Given the description of an element on the screen output the (x, y) to click on. 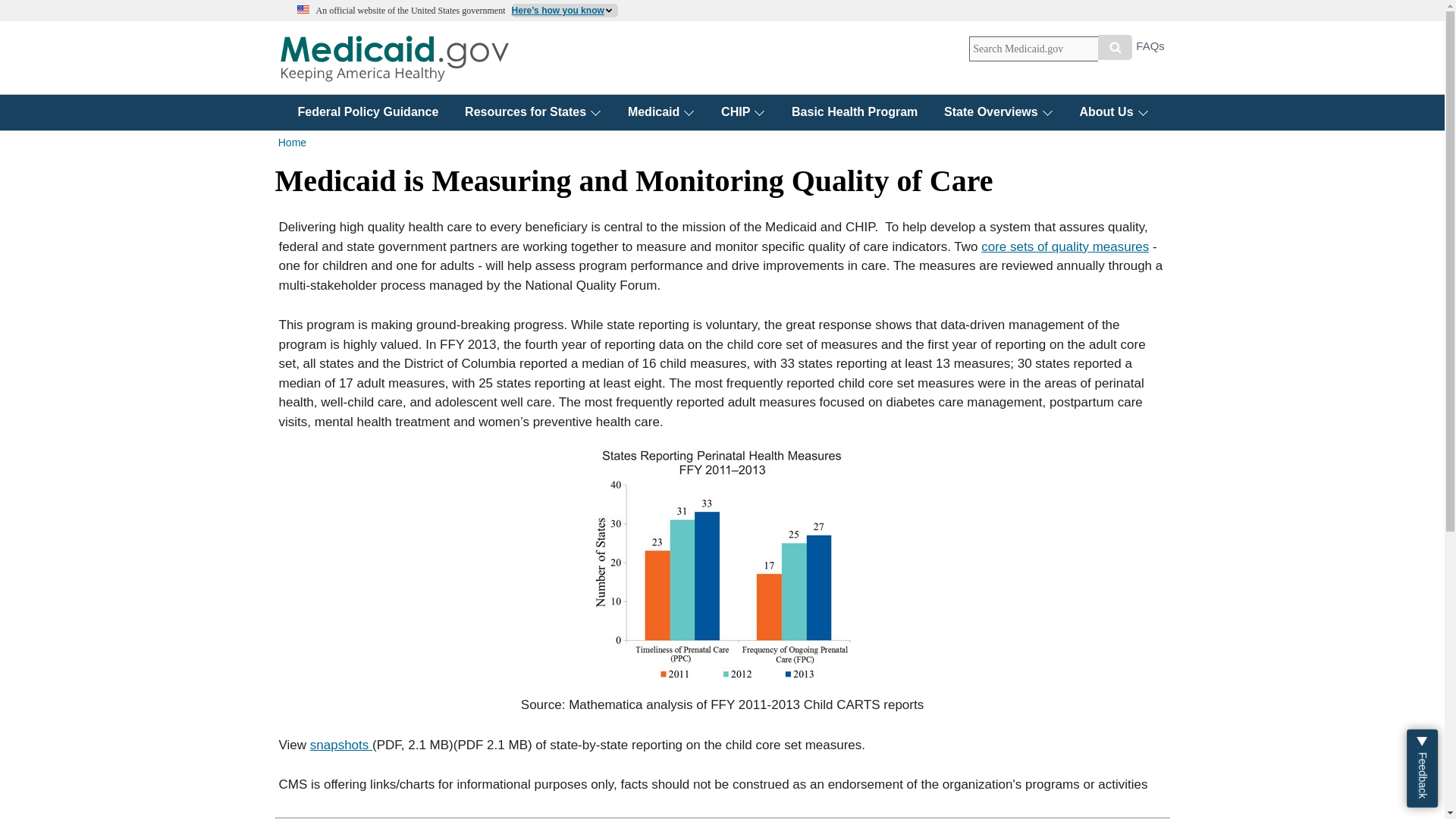
Quality of Care Performance Measurement (1064, 246)
ffy-2013-child-core-set-chart-pack.pdf (341, 744)
Skip to main content (721, 1)
Home (393, 57)
FAQs (1149, 50)
